Given the description of an element on the screen output the (x, y) to click on. 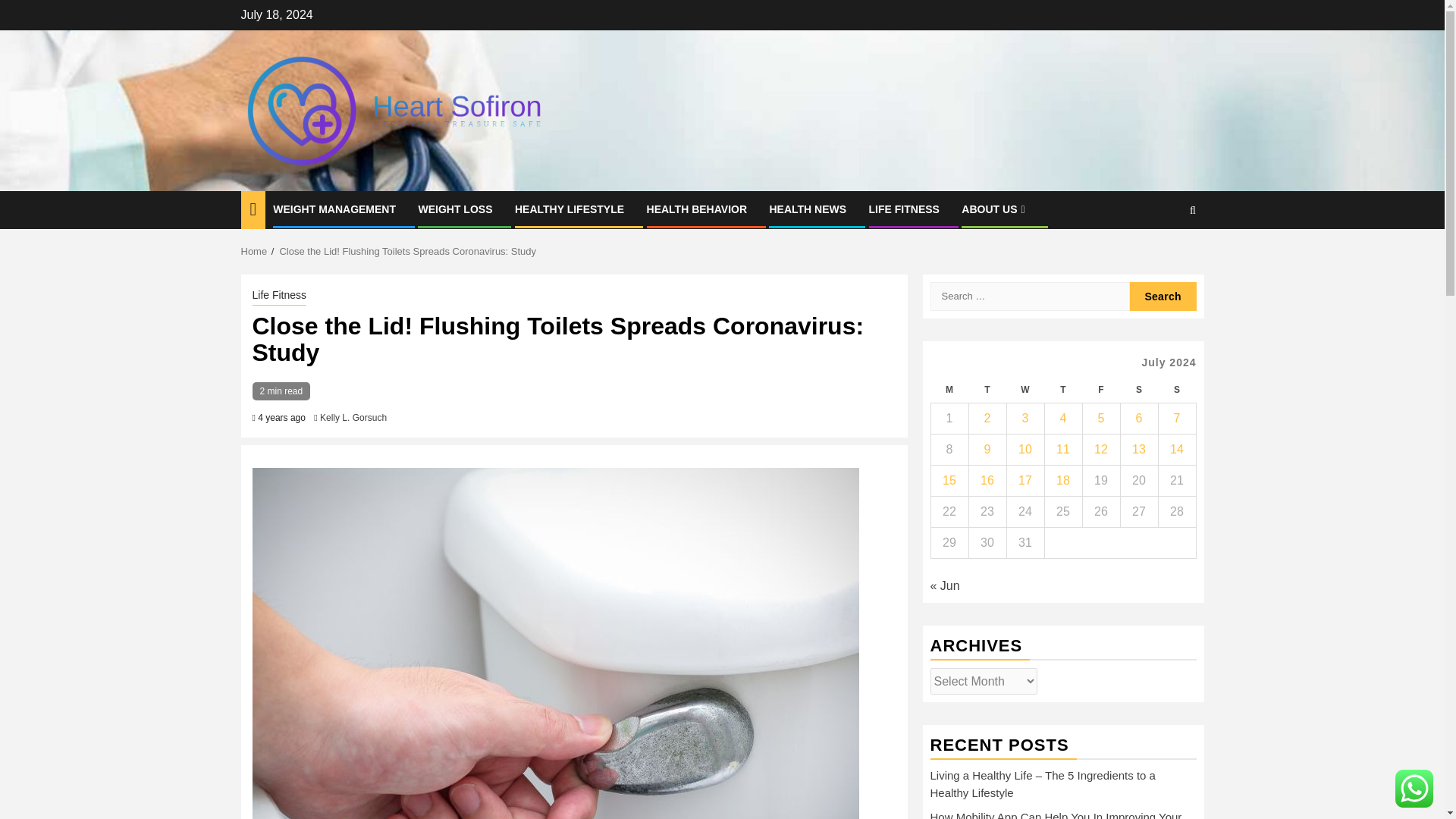
Search (1163, 256)
Sunday (1176, 389)
HEALTH BEHAVIOR (696, 209)
Life Fitness (278, 296)
Monday (949, 389)
HEALTH NEWS (806, 209)
Tuesday (987, 389)
ABOUT US (993, 209)
WEIGHT LOSS (454, 209)
WEIGHT MANAGEMENT (334, 209)
Kelly L. Gorsuch (353, 417)
Thursday (1062, 389)
Home (254, 251)
HEALTHY LIFESTYLE (569, 209)
Search (1162, 296)
